Given the description of an element on the screen output the (x, y) to click on. 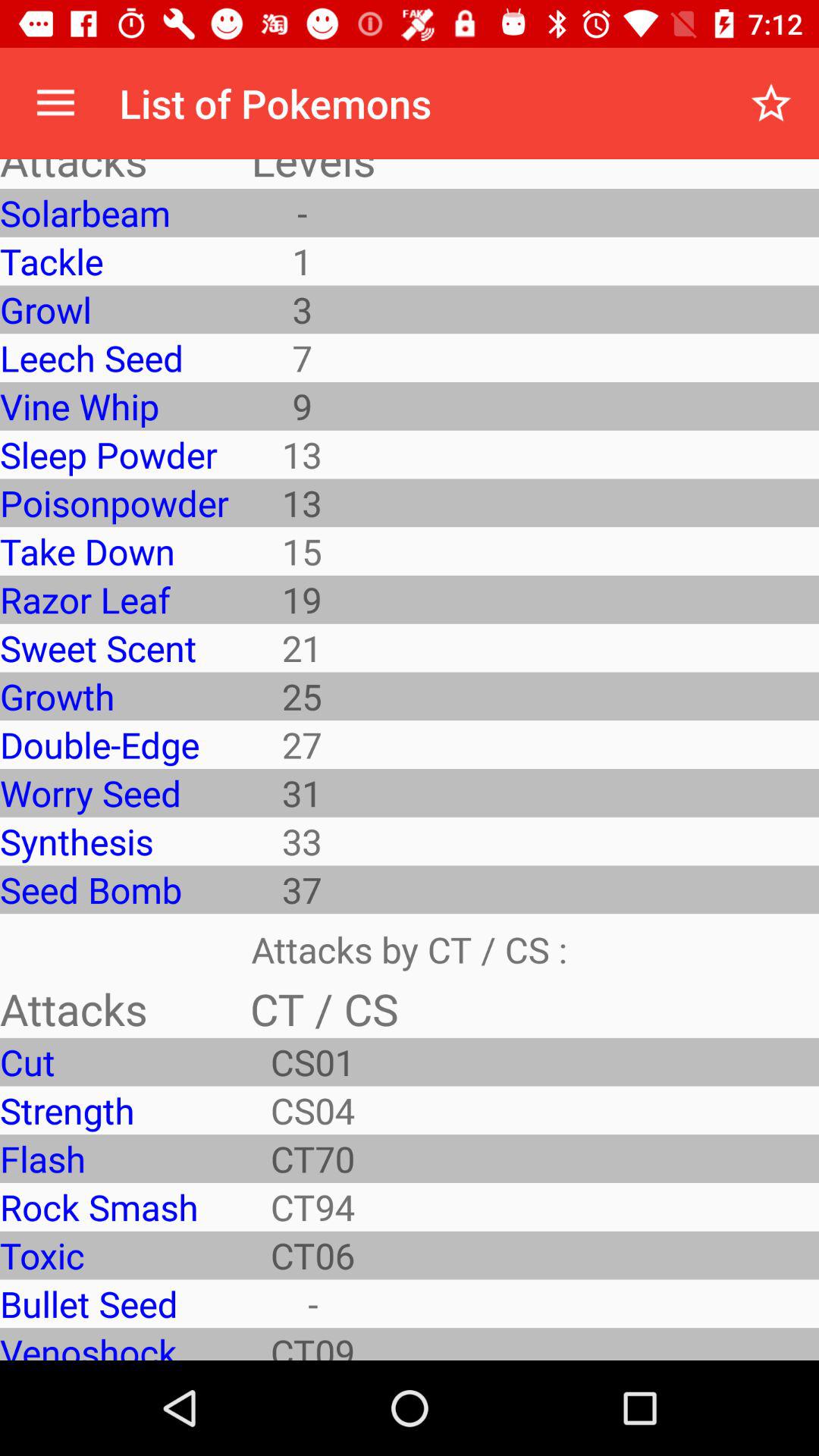
turn off icon above the attacks app (55, 103)
